Given the description of an element on the screen output the (x, y) to click on. 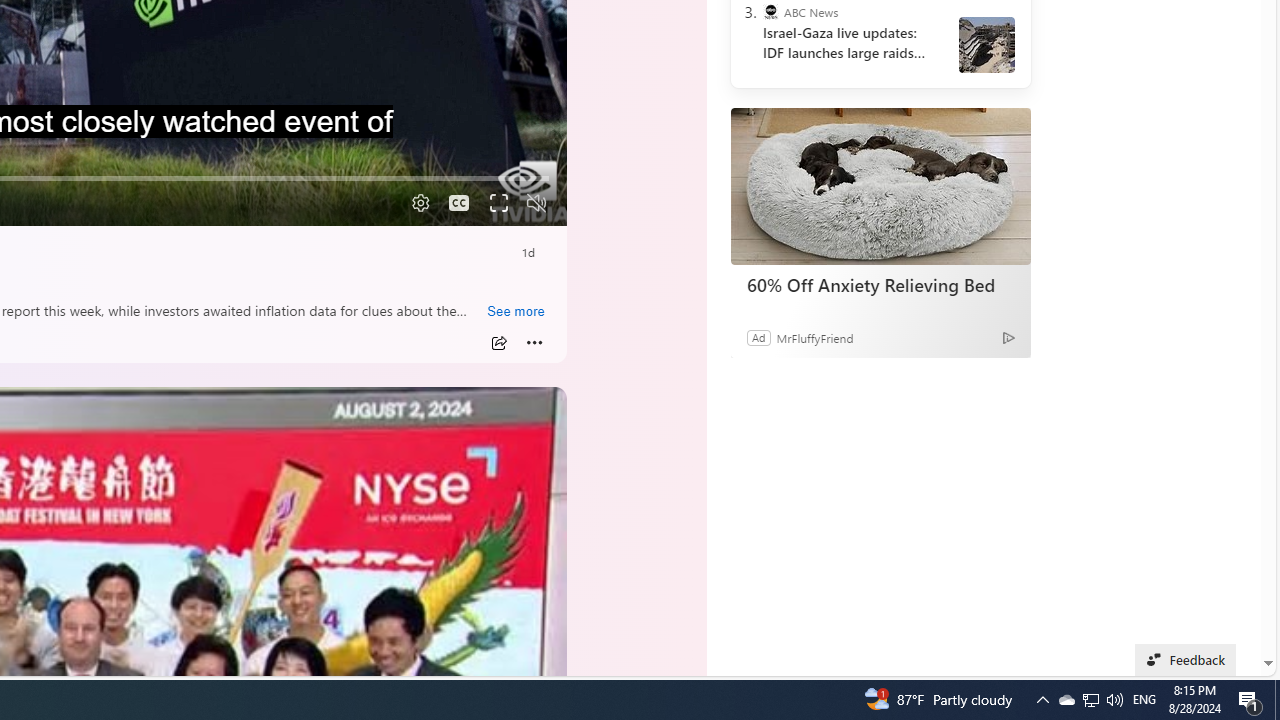
60% Off Anxiety Relieving Bed (880, 284)
Quality Settings (418, 203)
Captions (457, 203)
More (534, 343)
Share (498, 343)
Share (498, 343)
MrFluffyFriend (813, 337)
ABC News (770, 12)
